Given the description of an element on the screen output the (x, y) to click on. 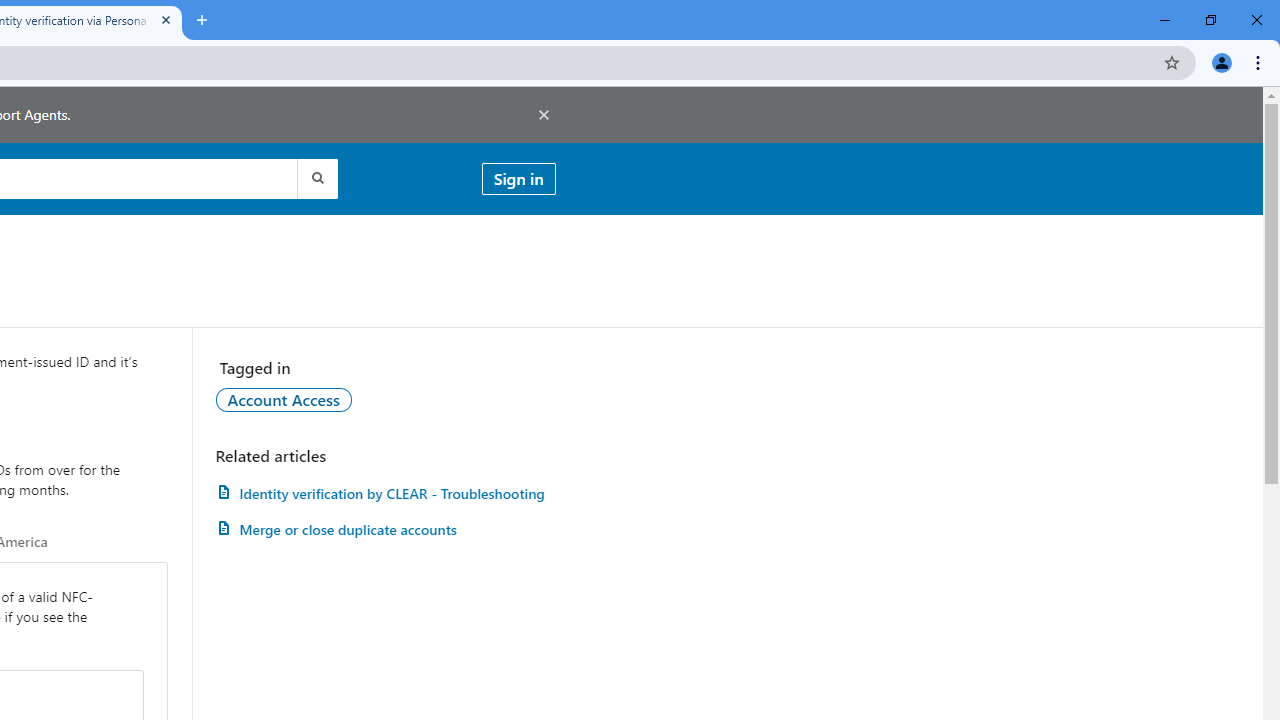
Account Access (283, 399)
AutomationID: article-link-a1457505 (385, 493)
Merge or close duplicate accounts (385, 529)
Identity verification by CLEAR - Troubleshooting (385, 493)
AutomationID: topic-link-a151002 (283, 399)
Submit search (316, 178)
